Given the description of an element on the screen output the (x, y) to click on. 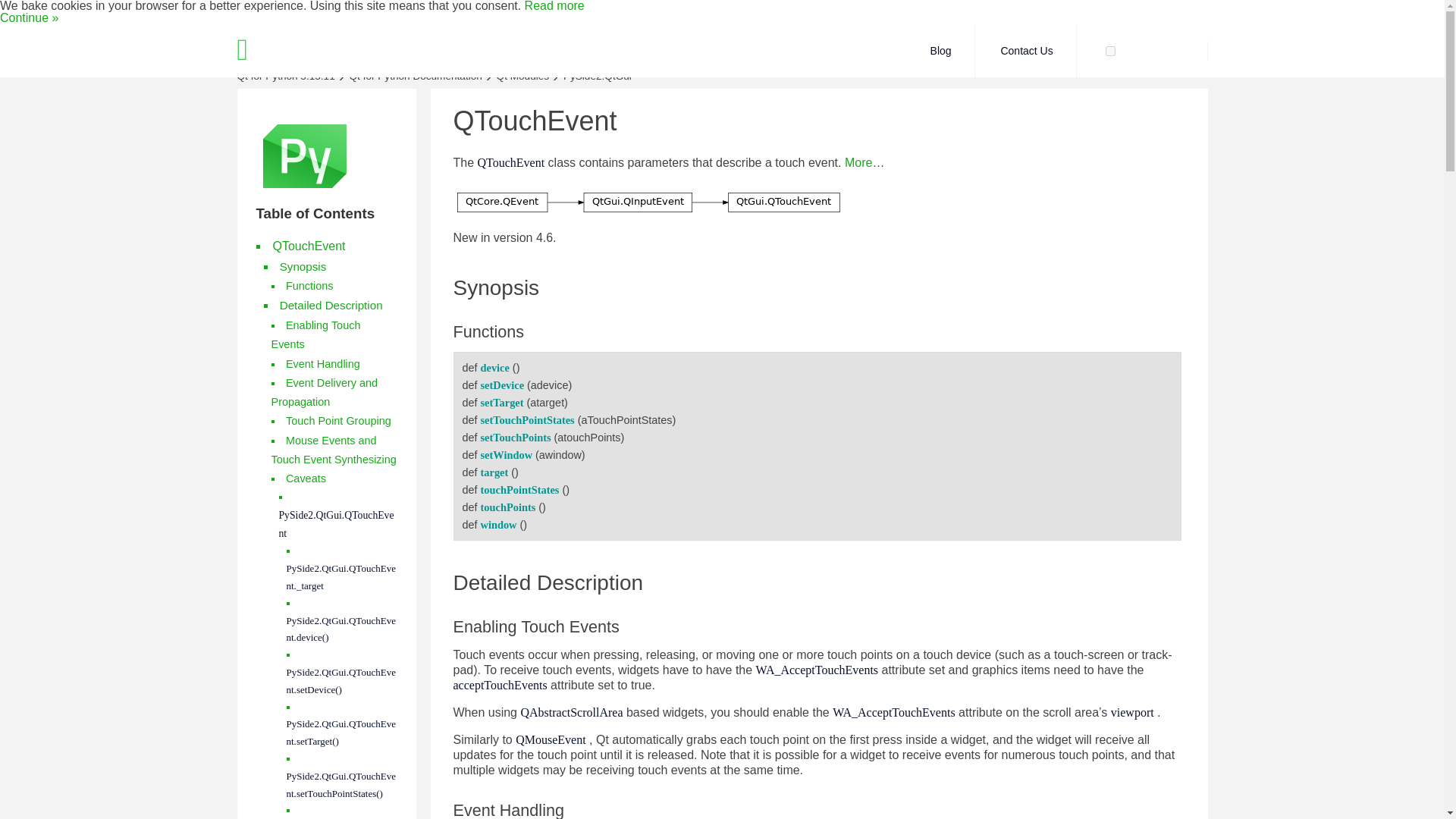
PySide2.QtGui.PySide2.QtGui.QTouchEvent.setWindow (506, 454)
Event Handling (322, 363)
PySide2.QtGui.PySide2.QtGui.QTouchEvent.setTouchPoints (515, 437)
PySide2.QtGui.QTouchEvent (336, 523)
Enabling Touch Events (315, 334)
PySide2.QtGui.PySide2.QtGui.QTouchEvent.setTouchPointStates (527, 419)
Contact Us (1026, 50)
on (1110, 50)
PySide2.QtGui.PySide2.QtGui.QTouchEvent.touchPoints (507, 507)
PySide2.QtGui.PySide2.QtGui.QTouchEvent.touchPointStates (519, 490)
PySide2.QtGui.PySide2.QtGui.QTouchEvent.device (494, 367)
Synopsis (302, 266)
QTouchEvent (309, 245)
PySide2.QtGui.PySide2.QtGui.QTouchEvent (510, 162)
PySide2.QtGui.PySide2.QtGui.QTouchEvent.setTarget (502, 402)
